Given the description of an element on the screen output the (x, y) to click on. 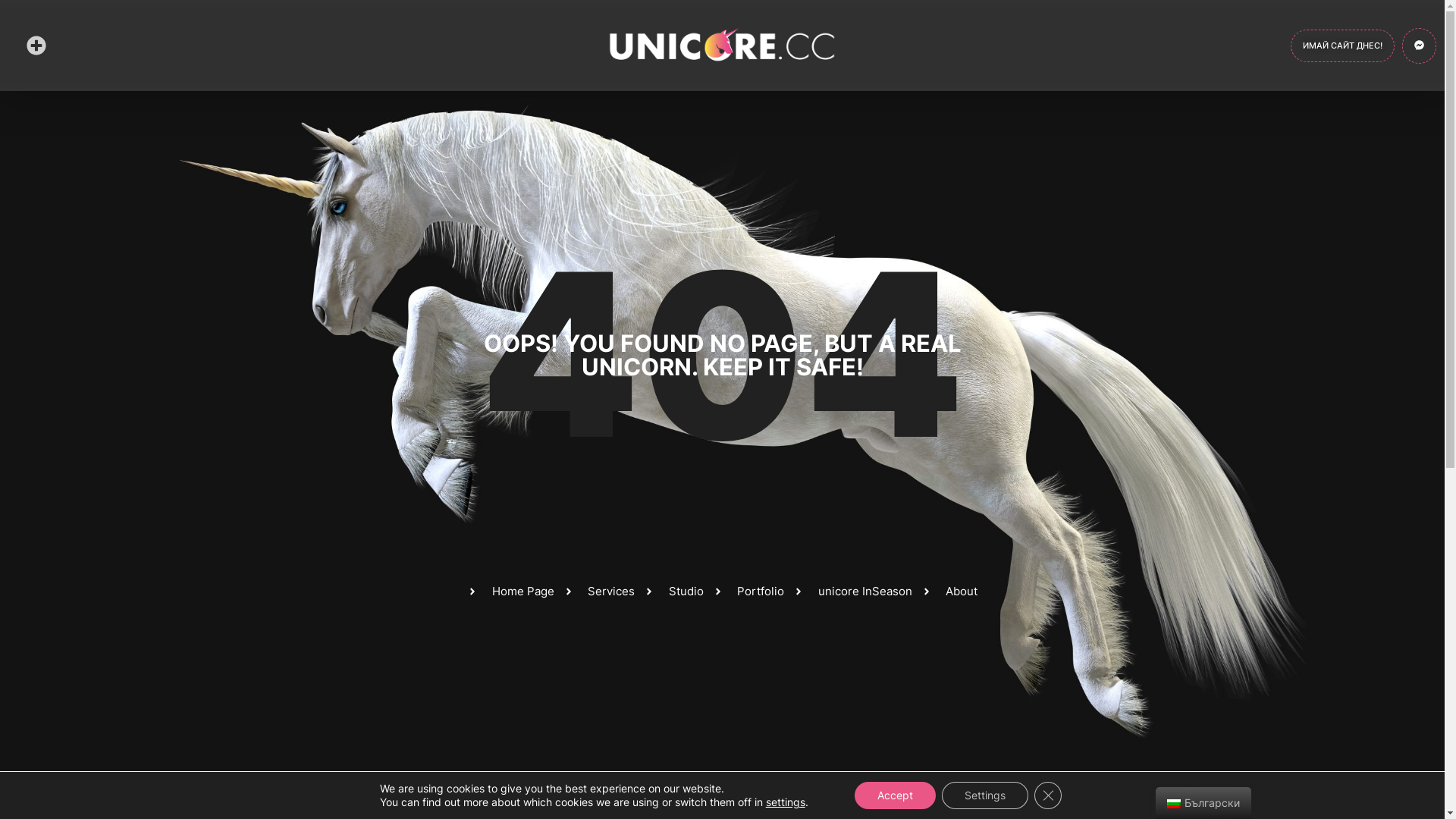
Accept Element type: text (894, 795)
Studio Element type: text (673, 591)
Services Element type: text (598, 591)
Close GDPR Cookie Banner Element type: text (1047, 795)
Home Page Element type: text (510, 591)
Settings Element type: text (984, 795)
About Element type: text (948, 591)
unicore InSeason Element type: text (852, 591)
Portfolio Element type: text (748, 591)
